Given the description of an element on the screen output the (x, y) to click on. 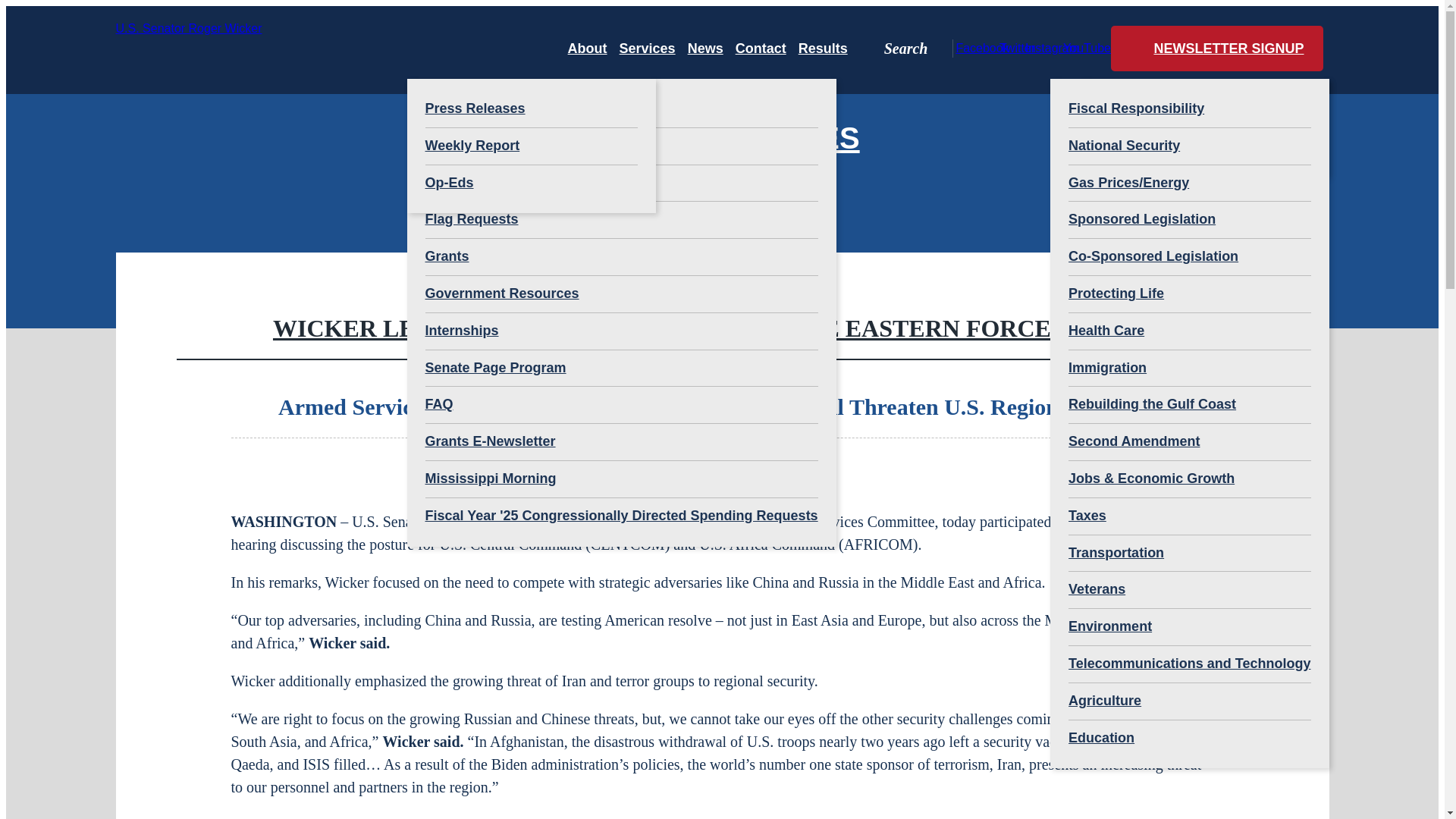
Immigration (1189, 368)
U.S. Senator Roger Wicker (220, 48)
Results (822, 48)
Fiscal Year '25 Congressionally Directed Spending Requests (620, 515)
Search (905, 48)
Government Resources (620, 294)
Press Releases (531, 108)
Second Amendment (1189, 442)
Senate Page Program (620, 368)
Academy Nominations (620, 145)
